Given the description of an element on the screen output the (x, y) to click on. 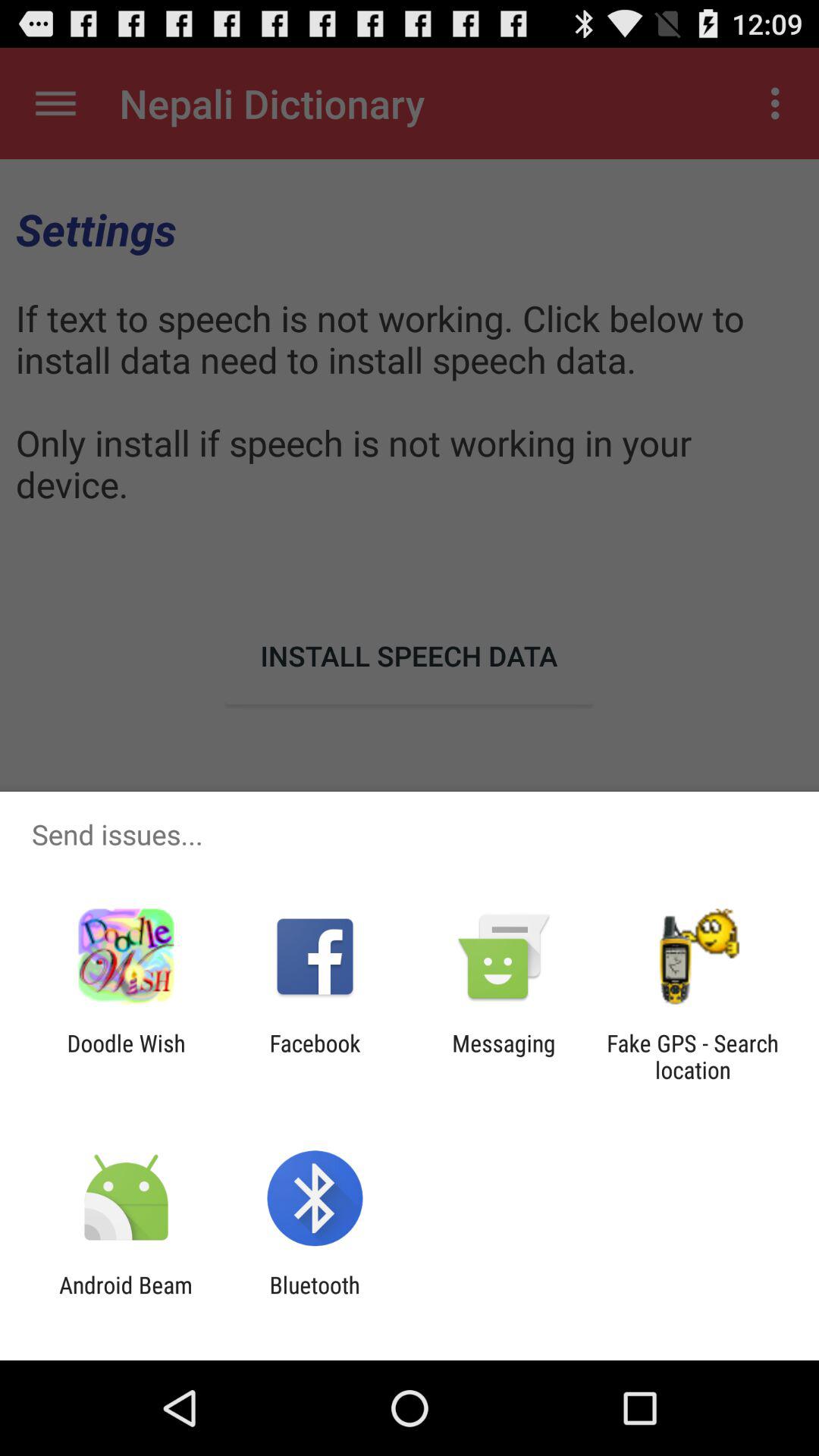
flip until android beam item (125, 1298)
